Given the description of an element on the screen output the (x, y) to click on. 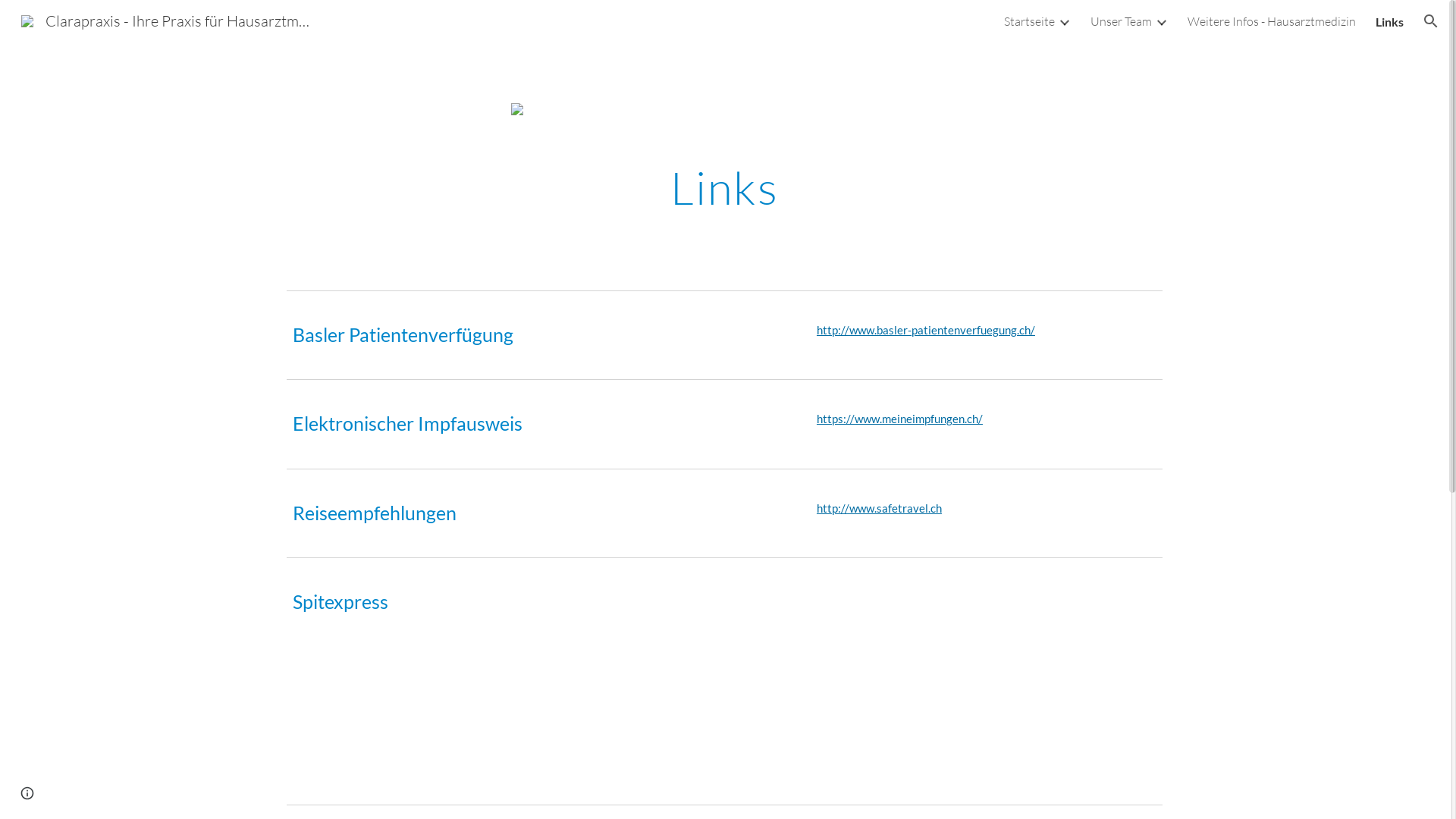
https://www.meineimpfungen.ch/ Element type: text (899, 418)
Startseite Element type: text (1029, 20)
Expand/Collapse Element type: hover (1063, 20)
http://www.safetravel.ch Element type: text (878, 508)
Unser Team Element type: text (1120, 20)
Weitere Infos - Hausarztmedizin Element type: text (1271, 20)
Expand/Collapse Element type: hover (1160, 20)
http://www.basler-patientenverfuegung.ch/ Element type: text (925, 329)
Links Element type: text (1389, 20)
